Given the description of an element on the screen output the (x, y) to click on. 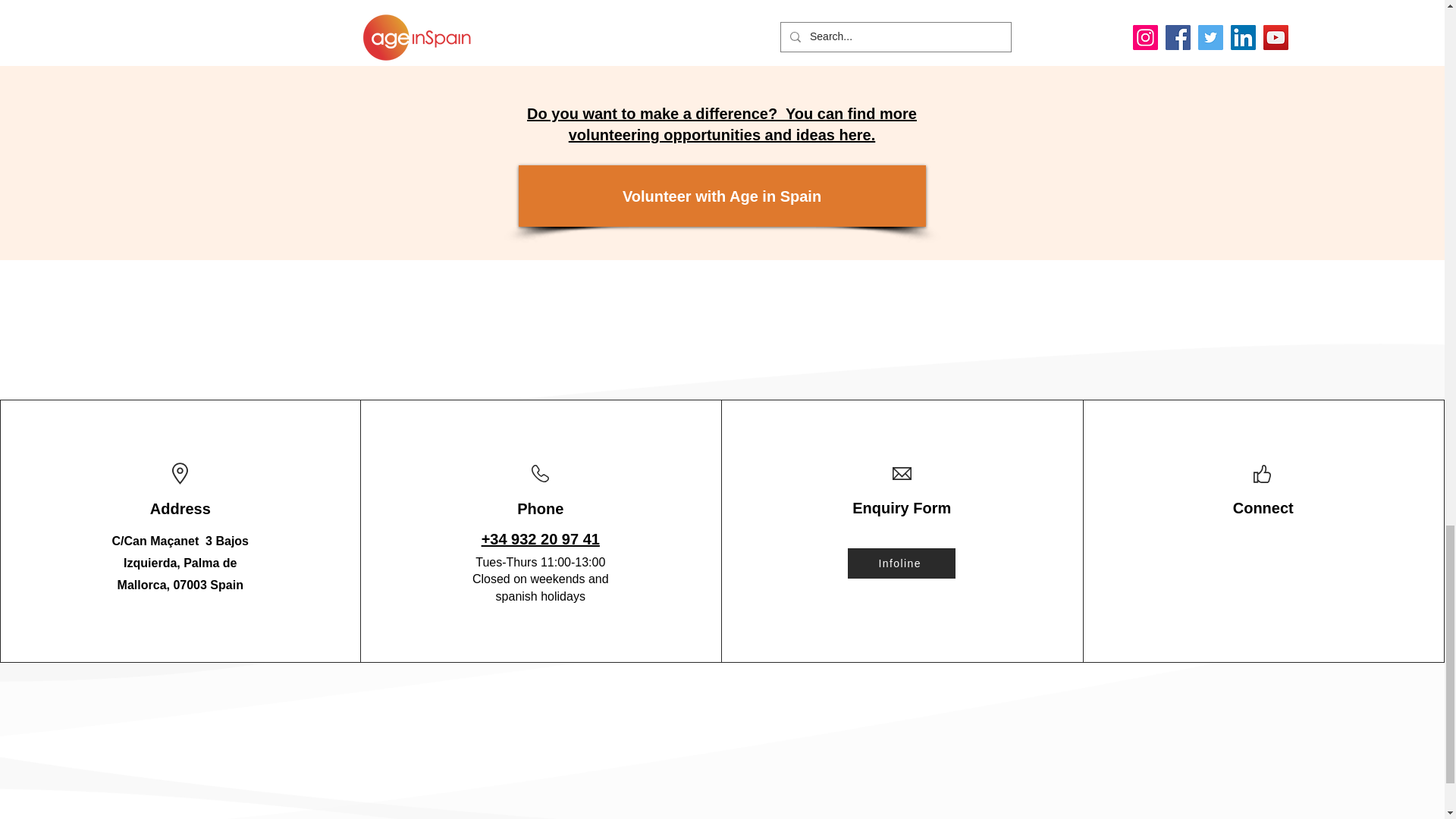
Infoline (901, 562)
Volunteer with Age in Spain (722, 195)
